Given the description of an element on the screen output the (x, y) to click on. 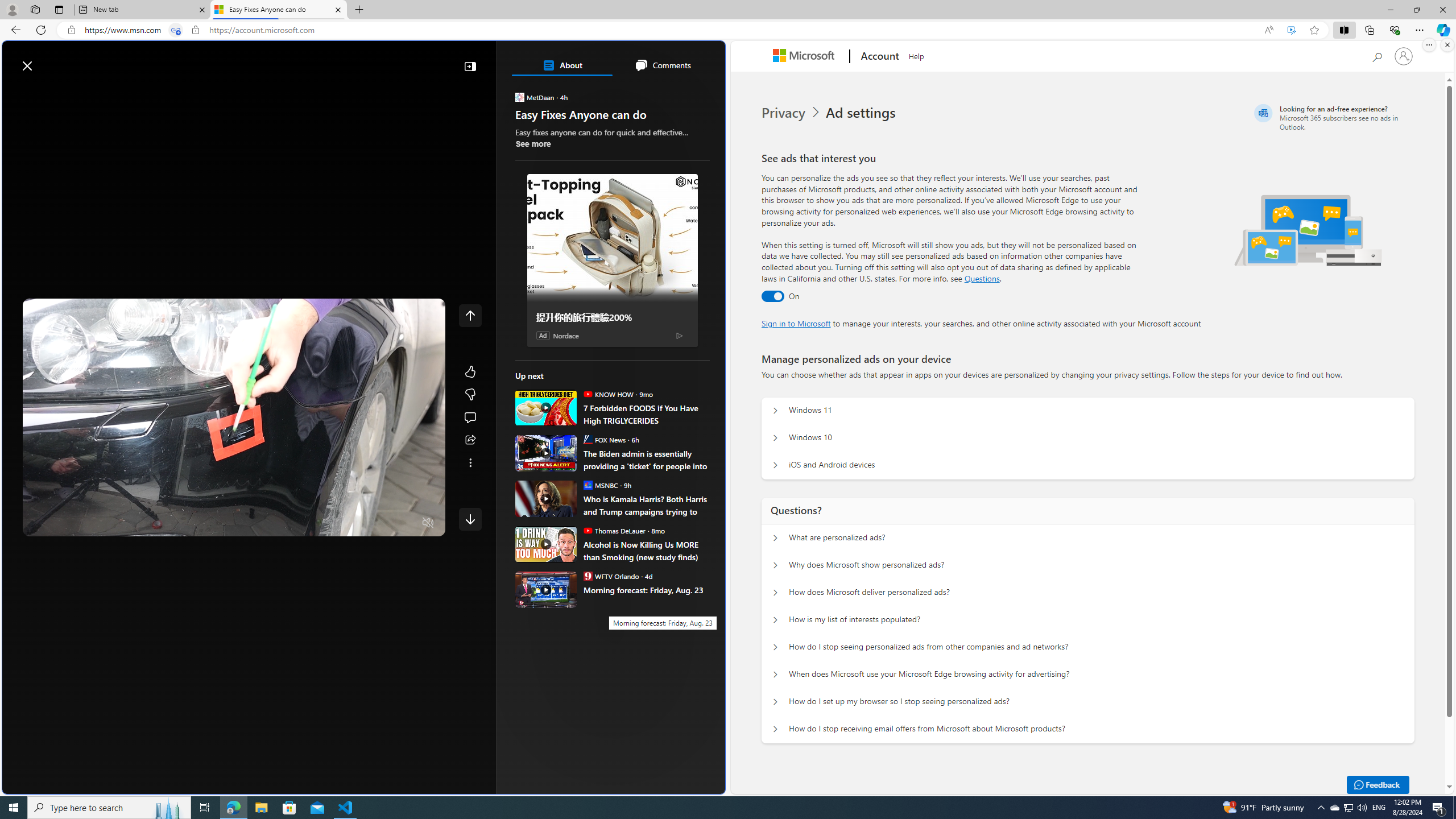
Close split screen. (1447, 45)
Easy Fixes Anyone can do (277, 9)
Go to Questions section (981, 278)
Class: button-glyph (16, 92)
Personalize (679, 92)
Share this story (469, 440)
Questions? How is my list of interests populated? (775, 619)
